Given the description of an element on the screen output the (x, y) to click on. 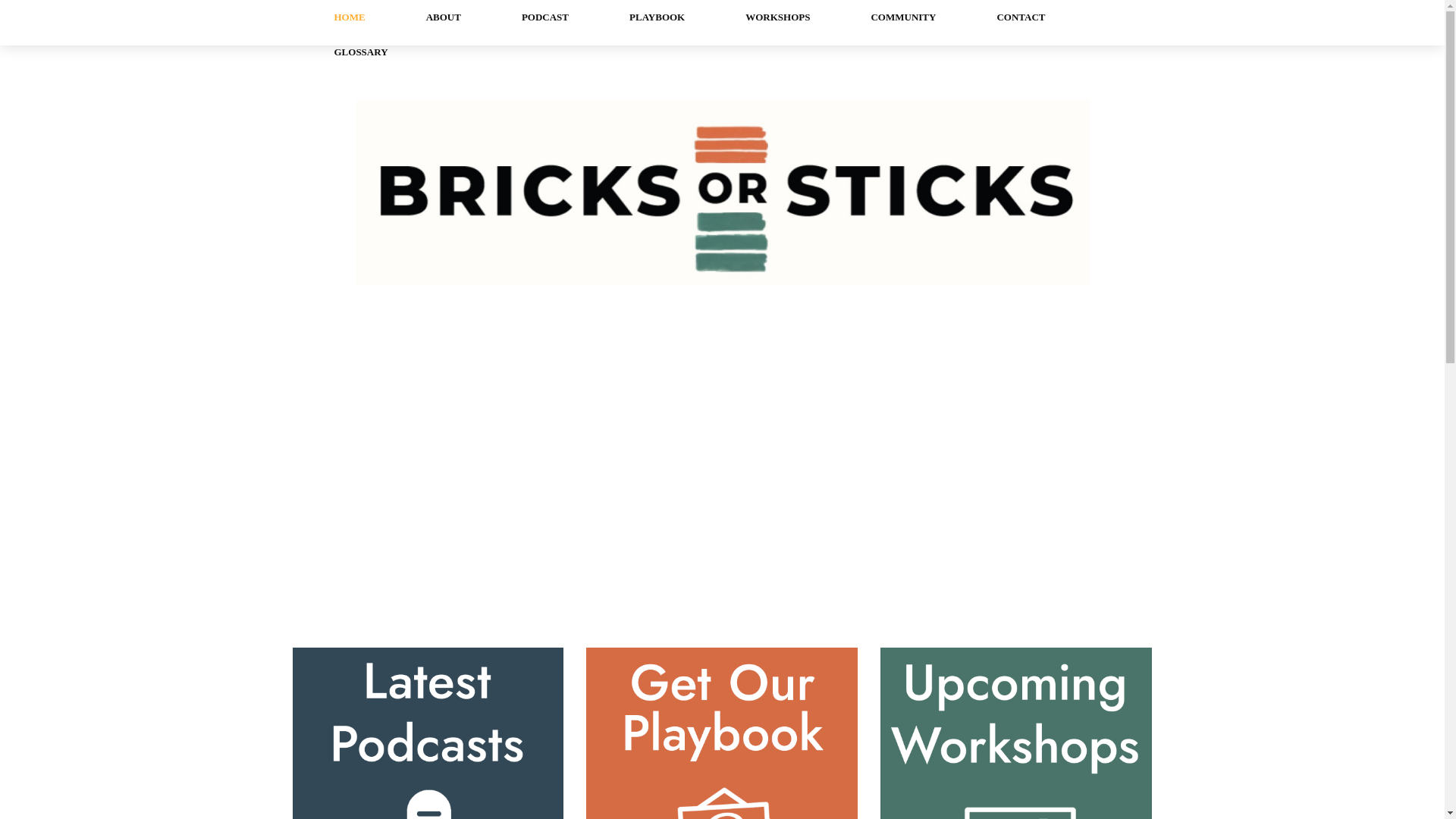
CONTACT (1020, 17)
ABOUT (444, 17)
HOME (348, 17)
WORKSHOPS (777, 17)
PODCAST (545, 17)
GLOSSARY (359, 52)
PLAYBOOK (656, 17)
COMMUNITY (903, 17)
